Given the description of an element on the screen output the (x, y) to click on. 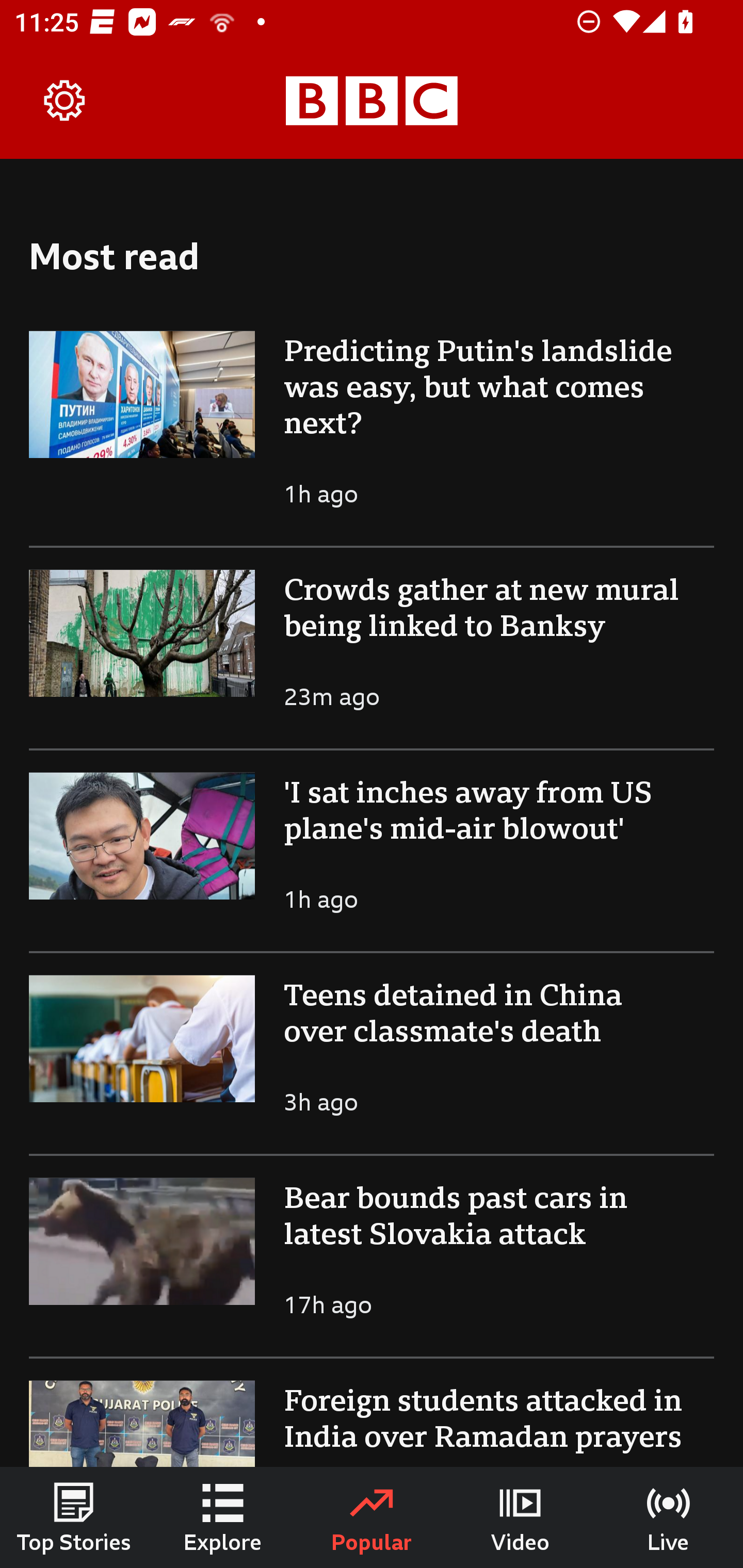
Settings (64, 100)
Top Stories (74, 1517)
Explore (222, 1517)
Video (519, 1517)
Live (668, 1517)
